Given the description of an element on the screen output the (x, y) to click on. 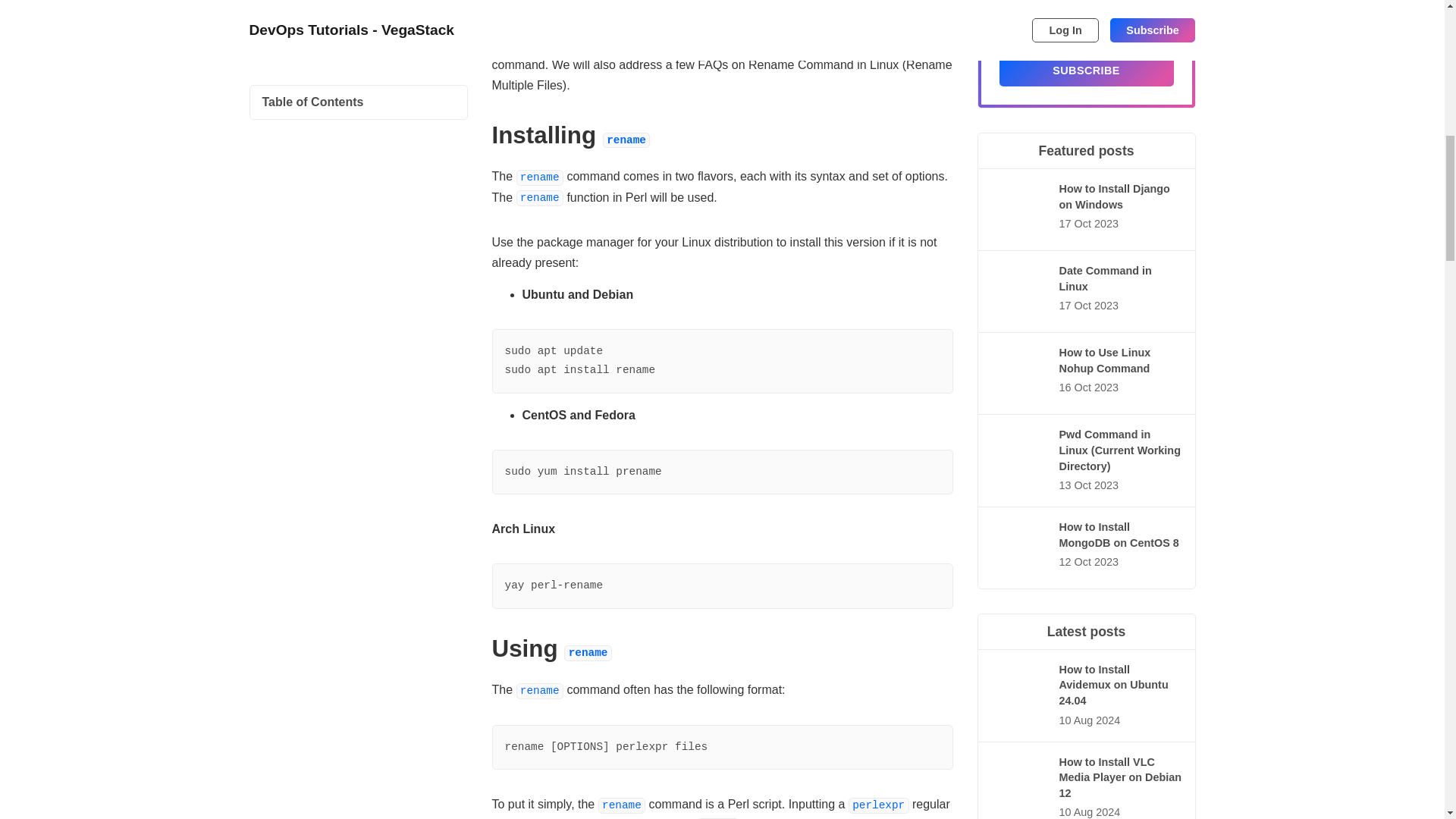
SUBSCRIBE (1085, 70)
